Given the description of an element on the screen output the (x, y) to click on. 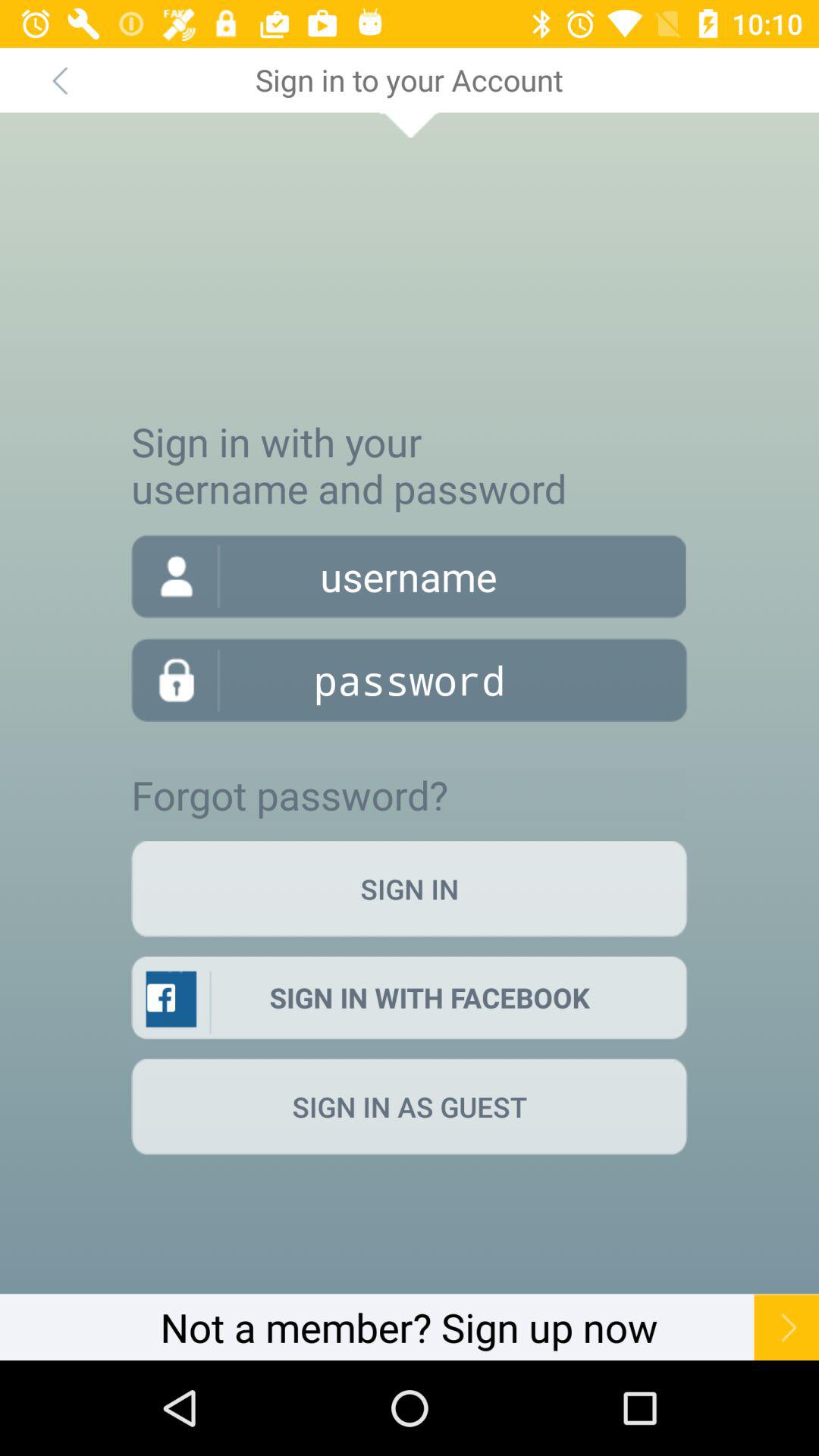
turn on forgot password? icon (289, 794)
